Given the description of an element on the screen output the (x, y) to click on. 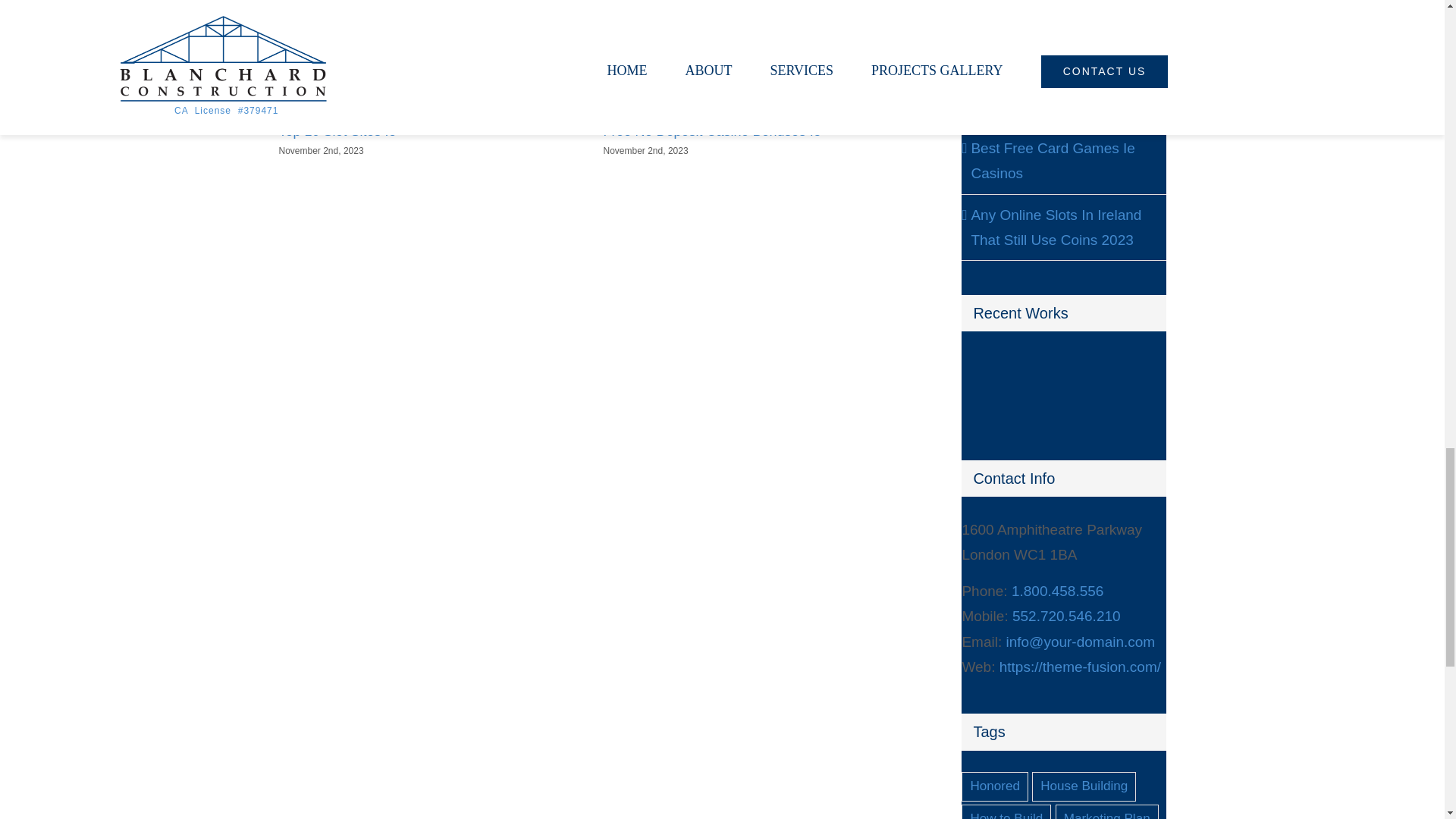
Saddlebrook Custom Home (986, 407)
Top 10 Slot Sites Ie (337, 130)
Geyserville Mixed Use (986, 370)
Foothills Custom Home (1043, 370)
Free No Deposit Casino Bonuses Ie (712, 130)
Free No Deposit Casino Bonuses Ie (712, 130)
Top 10 Slot Sites Ie (337, 130)
Asti Custom Home (1100, 370)
